Given the description of an element on the screen output the (x, y) to click on. 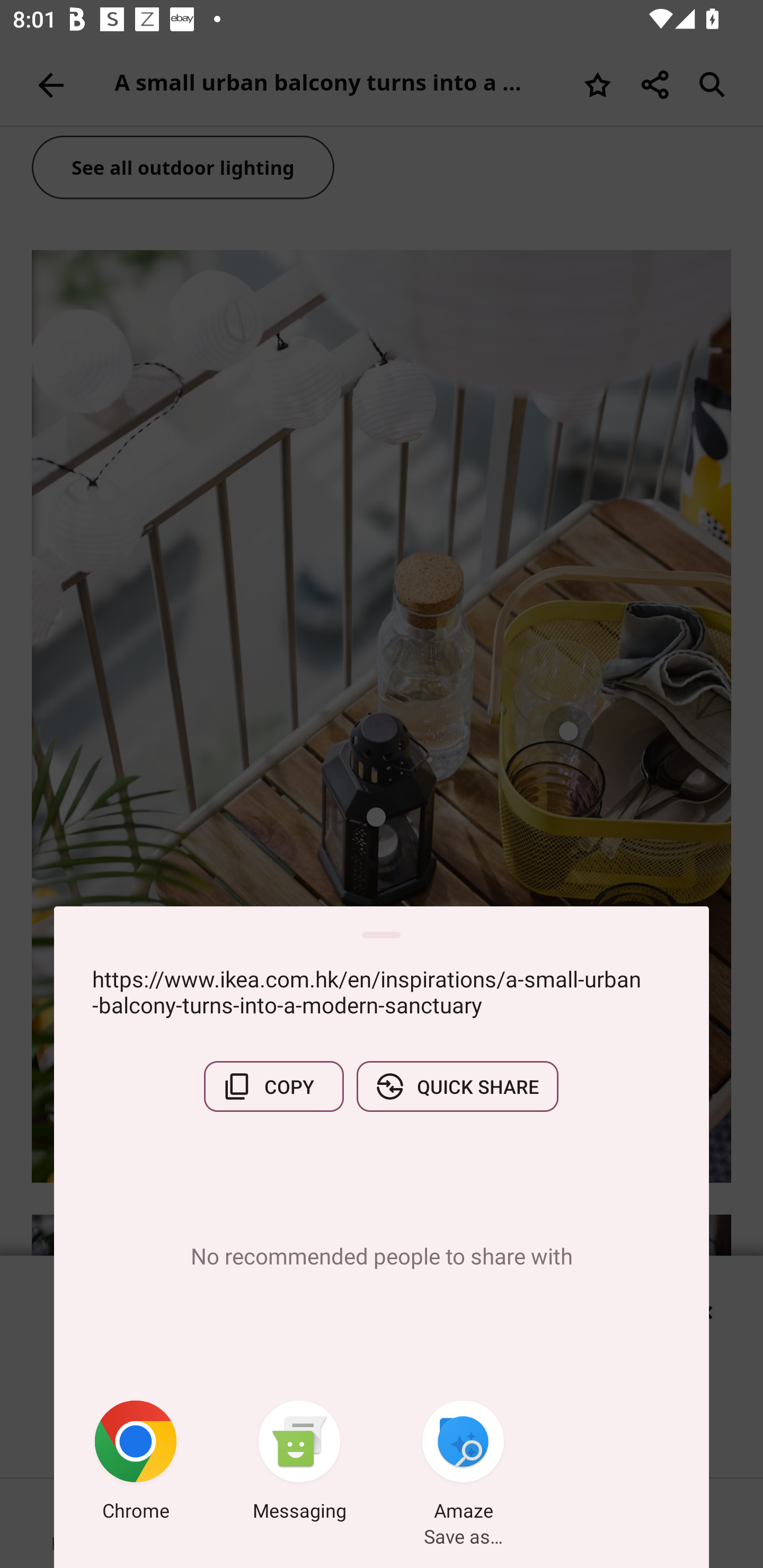
COPY (273, 1086)
QUICK SHARE (457, 1086)
Chrome (135, 1463)
Messaging (299, 1463)
Amaze Save as… (463, 1463)
